Given the description of an element on the screen output the (x, y) to click on. 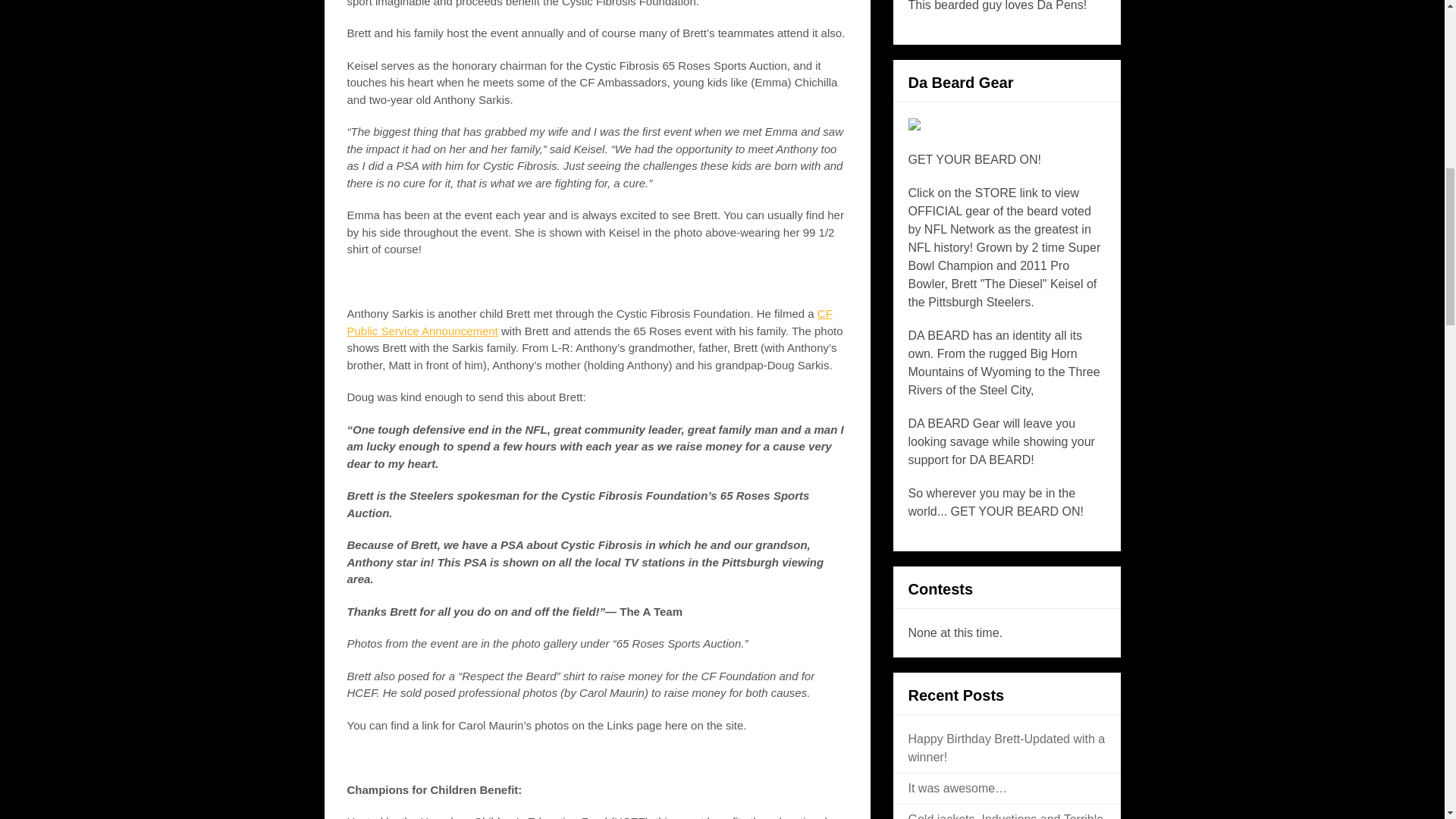
Gold jackets, Inductions and Terrible Towels (1005, 816)
Happy Birthday Brett-Updated with a winner! (1006, 747)
CF Public Service Announcement (589, 322)
